Given the description of an element on the screen output the (x, y) to click on. 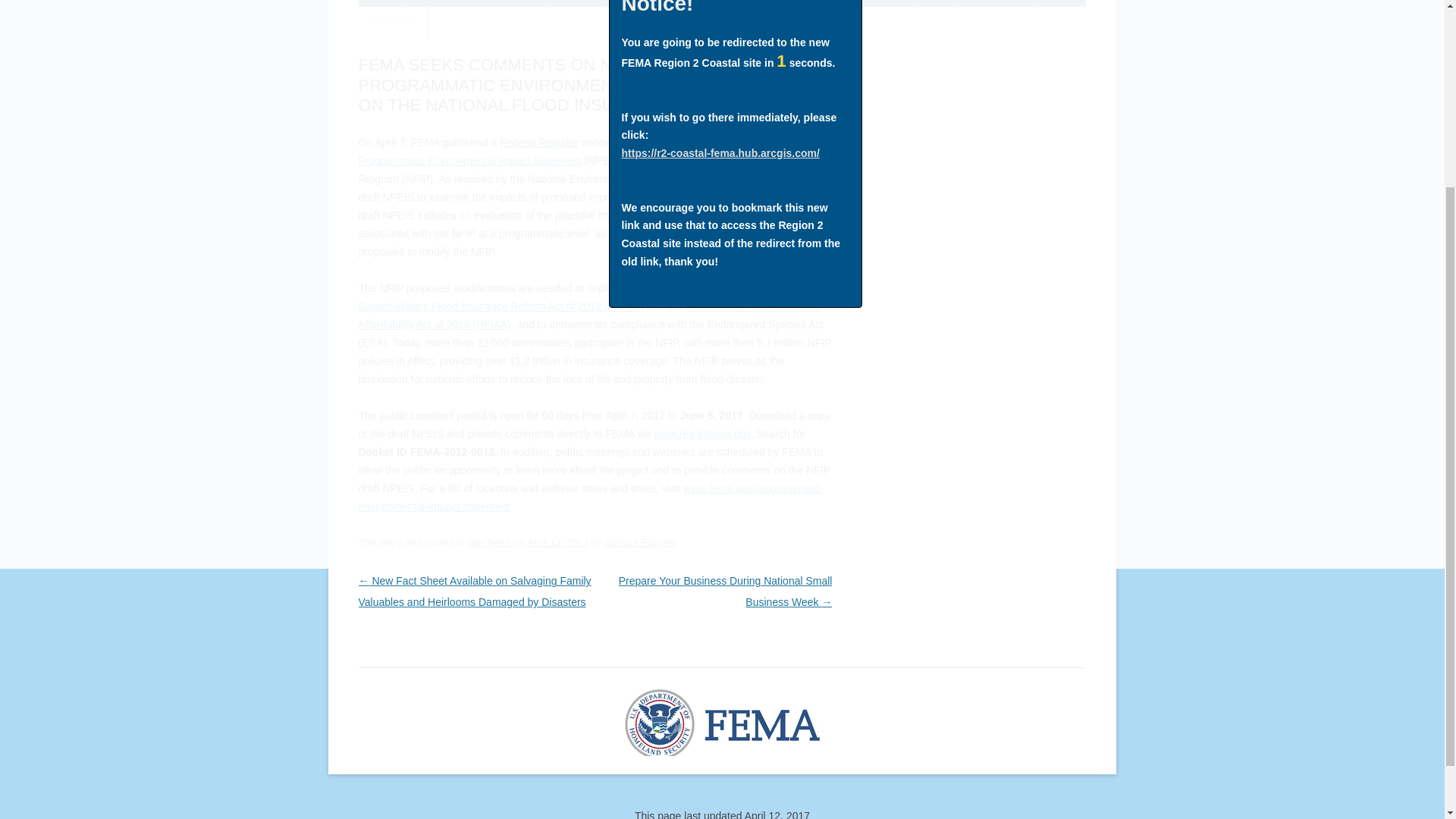
APPEAL PERIOD (595, 3)
FAQS (936, 3)
RESOURCES (997, 3)
Federal Register (538, 142)
VIEW FLOOD HAZARD INFO (476, 3)
8:53 am (557, 542)
Nationwide Programmatic Environmental Impact Statement (592, 151)
View all posts by Samara Ebinger (639, 542)
HOME (381, 3)
COMMUNITY OFFICIALS (705, 3)
